Given the description of an element on the screen output the (x, y) to click on. 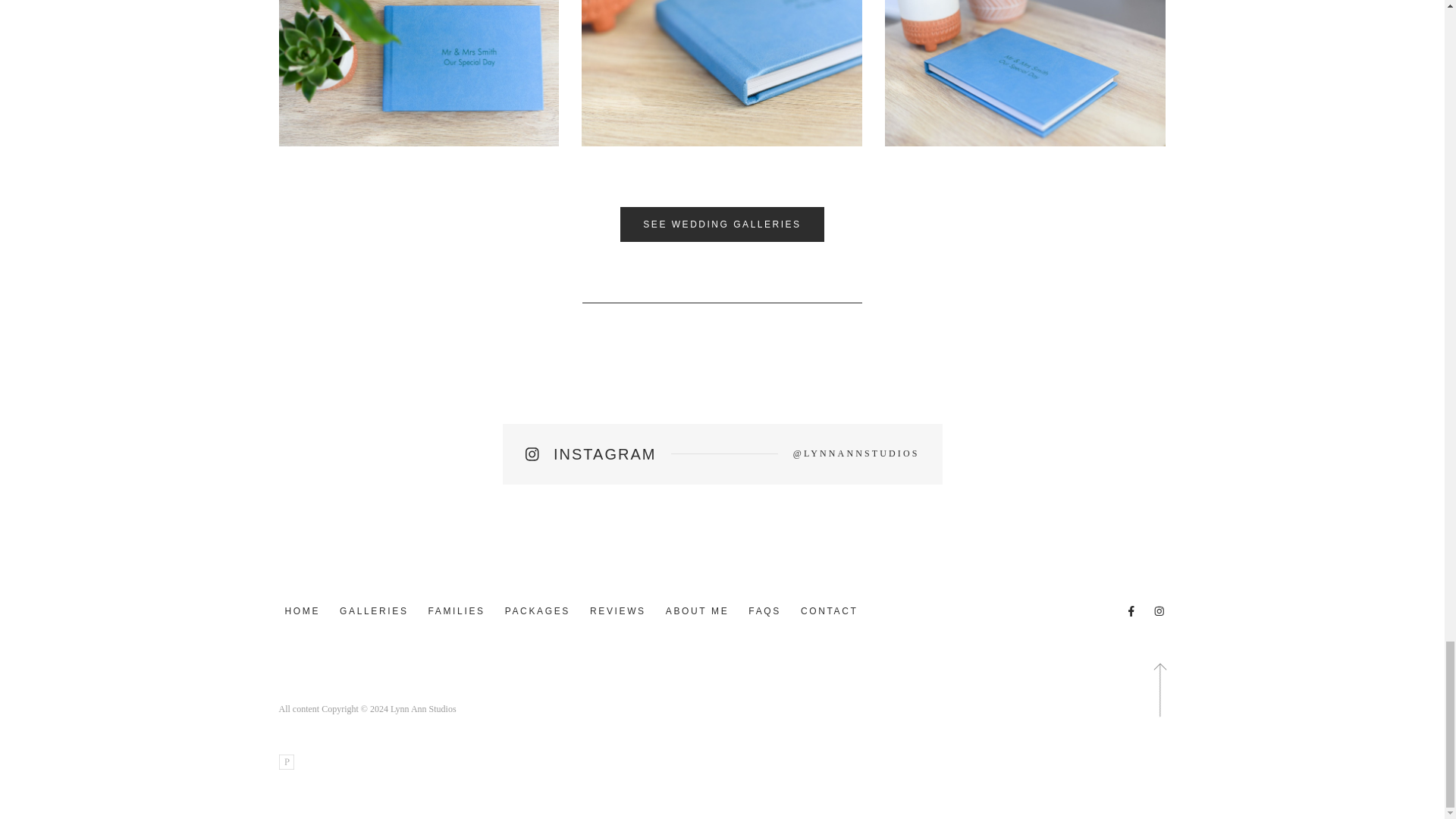
HOME (302, 611)
SEE WEDDING GALLERIES (722, 224)
GALLERIES (373, 611)
